Given the description of an element on the screen output the (x, y) to click on. 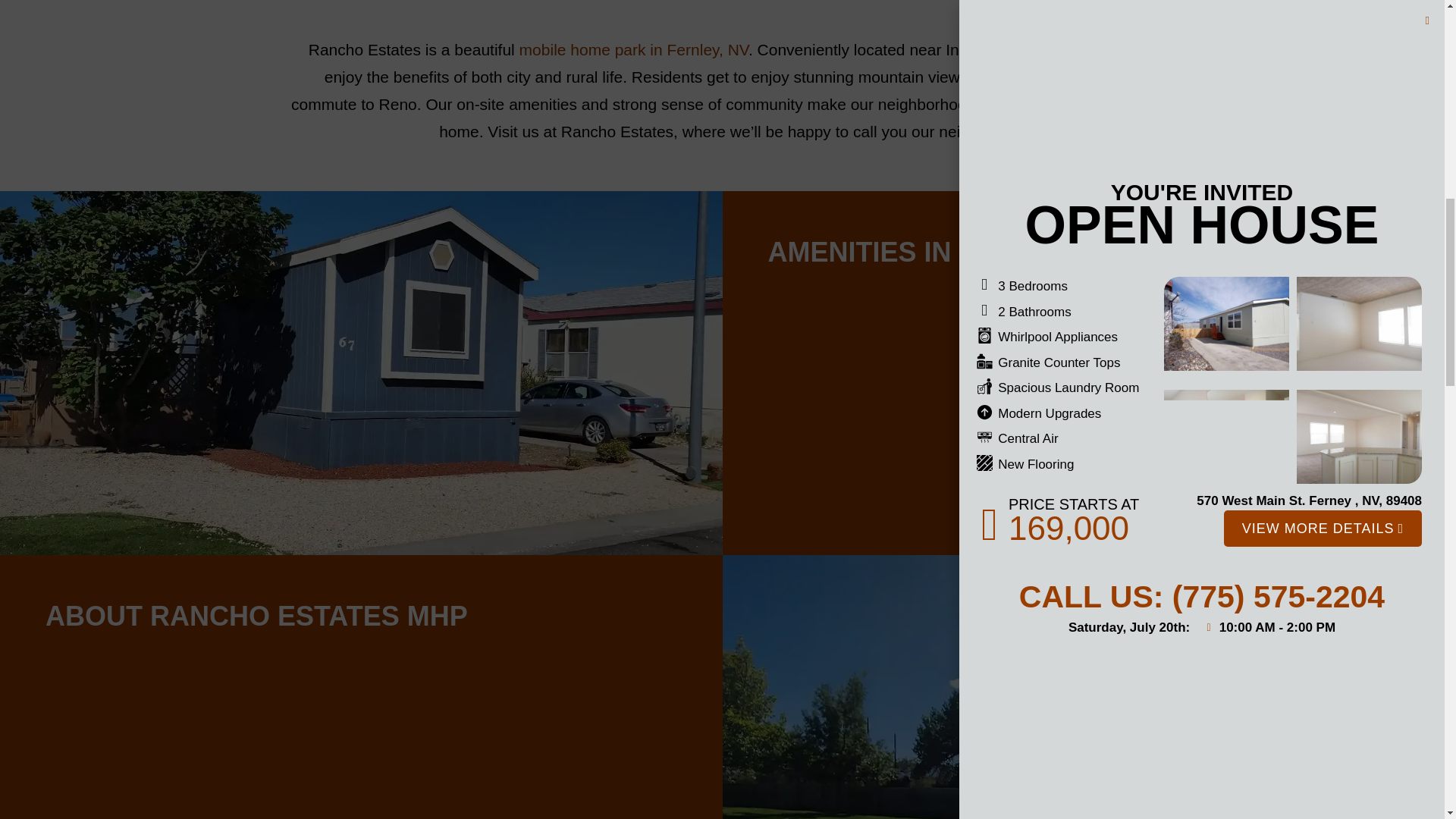
mobile home park in Fernley, NV (633, 49)
